Given the description of an element on the screen output the (x, y) to click on. 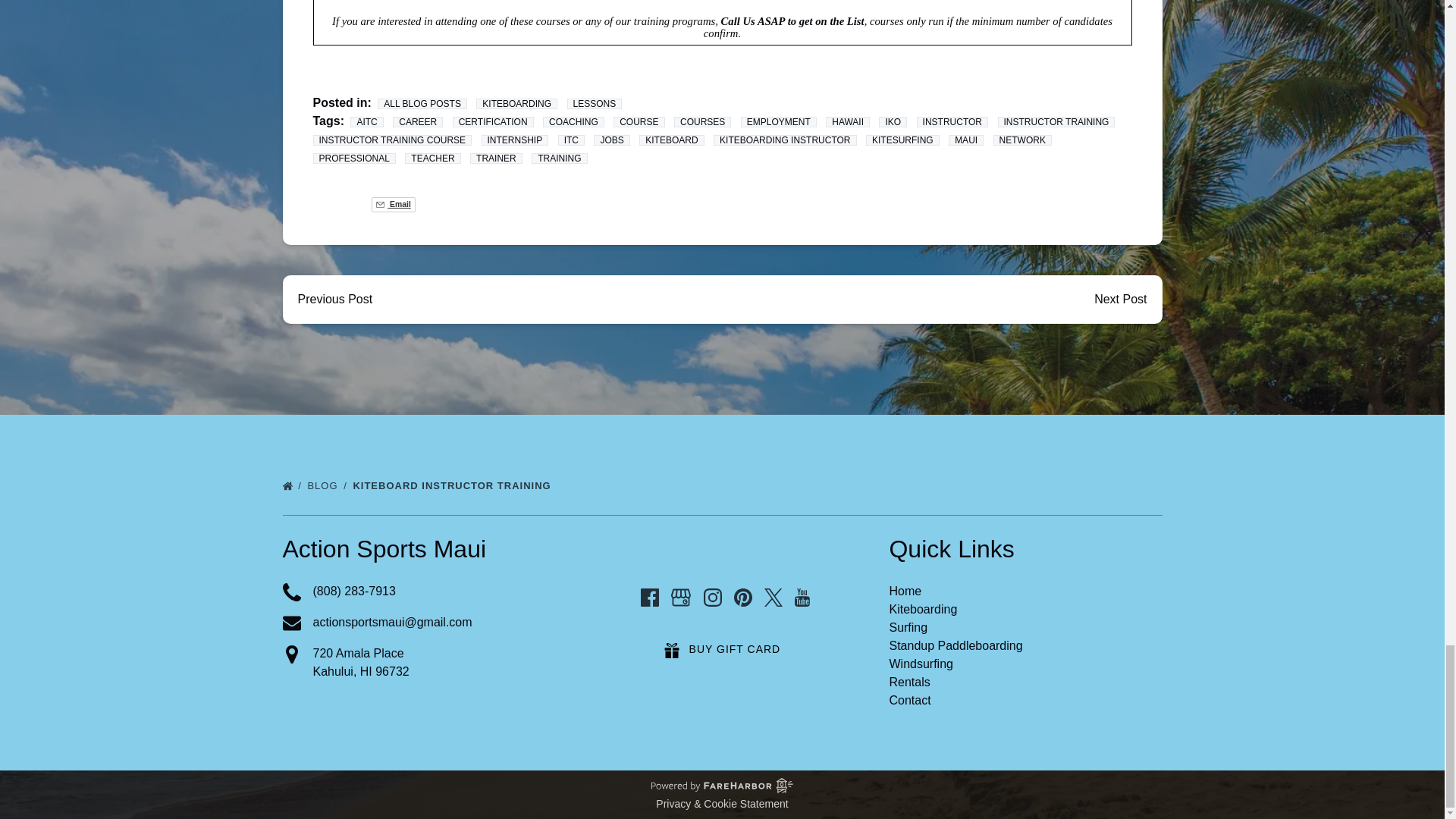
GIFT (671, 650)
Envelope (290, 623)
Map Marker (290, 654)
Phone (290, 592)
